Given the description of an element on the screen output the (x, y) to click on. 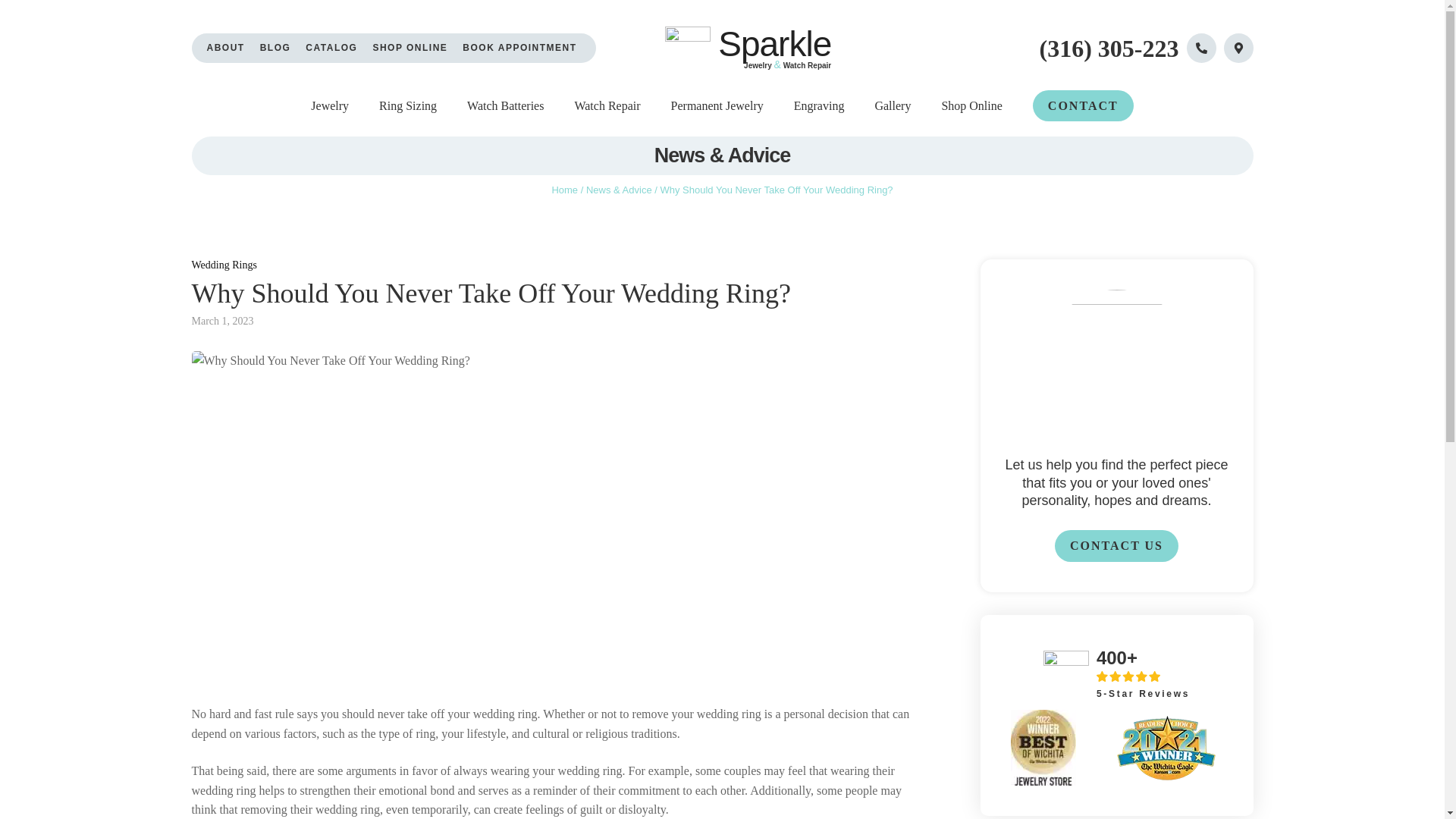
CONTACT (1083, 105)
Shop Online (970, 105)
Permanent Jewelry (716, 105)
Jewelry (330, 105)
BLOG (275, 47)
Ring Sizing (407, 105)
Gallery (893, 105)
SHOP ONLINE (409, 47)
CATALOG (330, 47)
ABOUT (225, 47)
Engraving (818, 105)
BOOK APPOINTMENT (519, 47)
Watch Repair (606, 105)
Watch Batteries (505, 105)
